Given the description of an element on the screen output the (x, y) to click on. 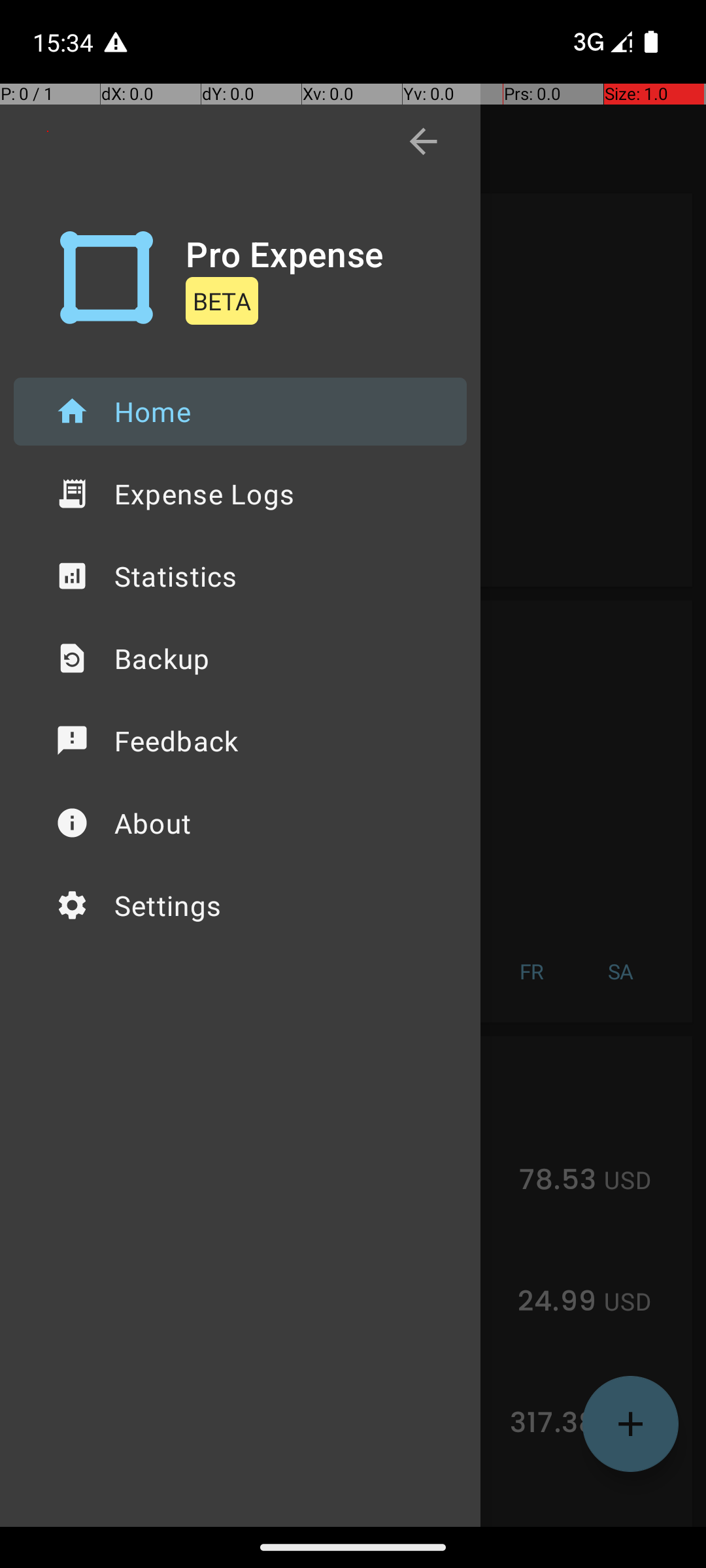
Pro Expense Element type: android.widget.TextView (284, 253)
BETA Element type: android.widget.TextView (221, 300)
Expense Logs Element type: android.widget.CheckedTextView (239, 493)
Statistics Element type: android.widget.CheckedTextView (239, 576)
Backup Element type: android.widget.CheckedTextView (239, 658)
Feedback Element type: android.widget.CheckedTextView (239, 740)
About Element type: android.widget.CheckedTextView (239, 823)
